Given the description of an element on the screen output the (x, y) to click on. 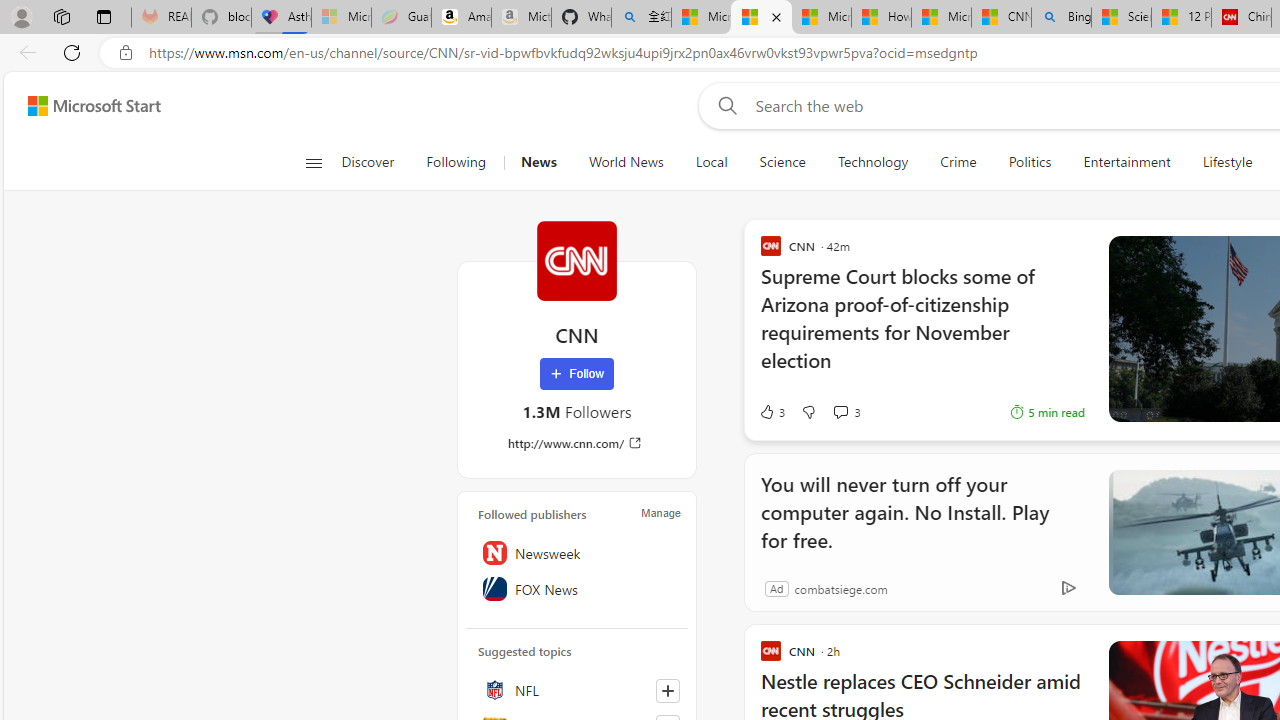
Politics (1029, 162)
Entertainment (1126, 162)
World News (625, 162)
Open navigation menu (313, 162)
View comments 3 Comment (840, 411)
Following (456, 162)
Manage (660, 512)
Local (710, 162)
Web search (724, 105)
